Given the description of an element on the screen output the (x, y) to click on. 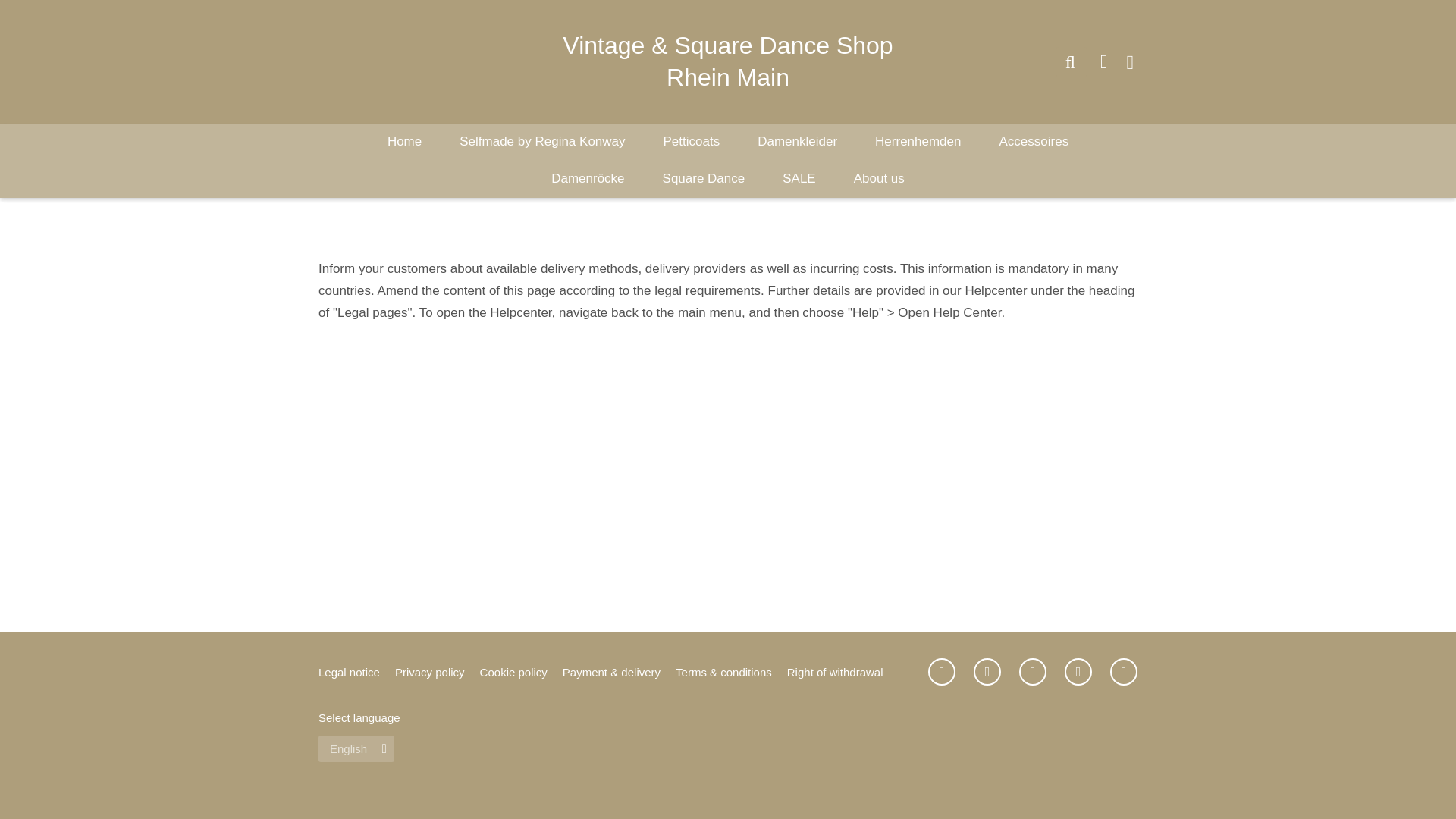
Damenkleider (797, 141)
Privacy policy (429, 671)
Legal notice (349, 671)
Open Help Center (949, 312)
Petticoats (691, 141)
Herrenhemden (917, 141)
Square Dance (703, 178)
SALE (799, 178)
Cookie policy (513, 671)
Selfmade by Regina Konway (542, 141)
About us (878, 178)
Right of withdrawal (835, 671)
Home (404, 141)
Accessoires (1033, 141)
